Given the description of an element on the screen output the (x, y) to click on. 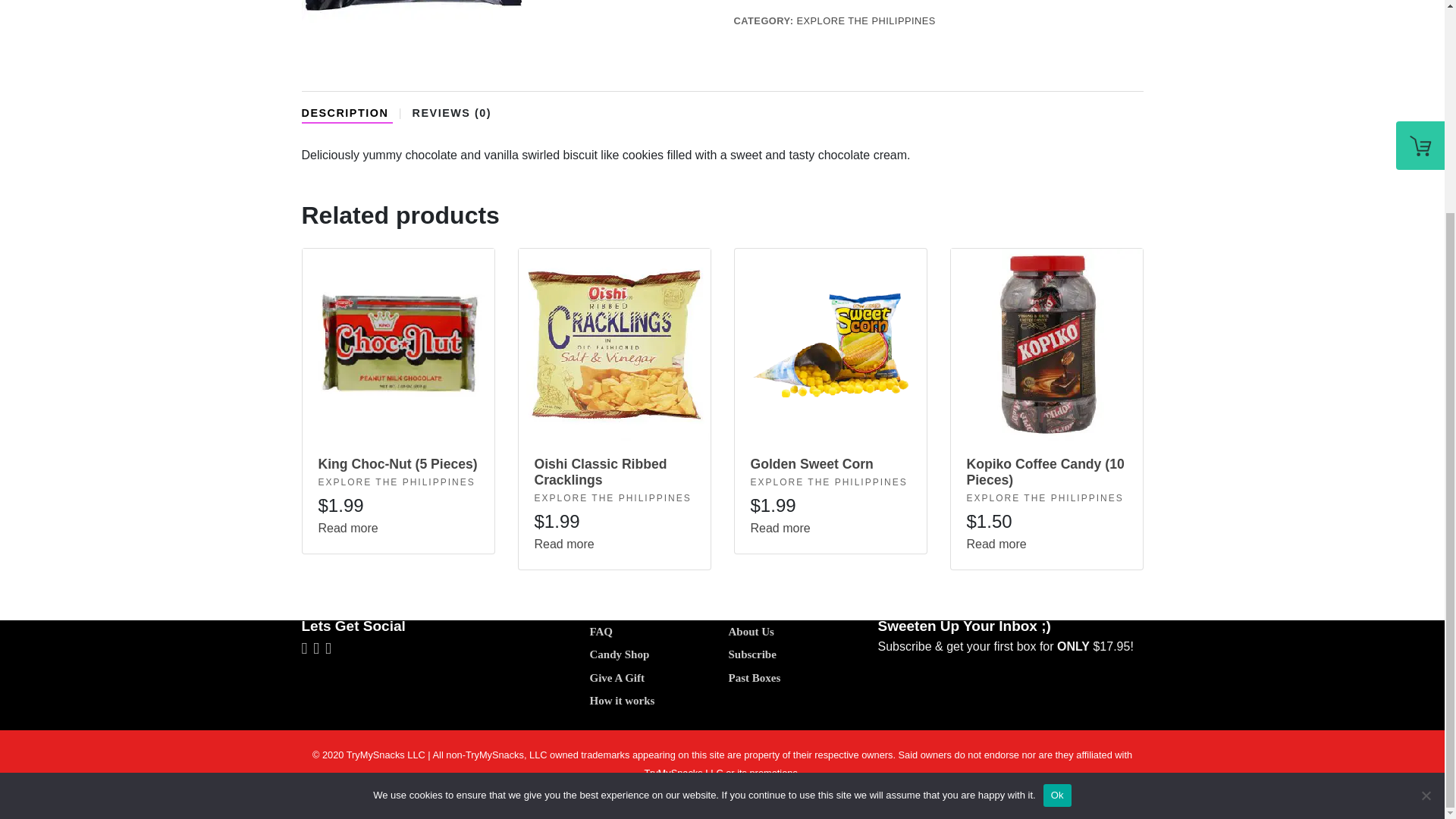
EXPLORE THE PHILIPPINES (829, 481)
Oishi Classic Ribbed Cracklings (614, 479)
Golden Sweet Corn (831, 471)
Jingle (411, 37)
Read more (348, 527)
EXPLORE THE PHILIPPINES (397, 481)
Read more (780, 527)
EXPLORE THE PHILIPPINES (865, 20)
EXPLORE THE PHILIPPINES (612, 498)
No (1425, 517)
Read more (564, 543)
DESCRIPTION (347, 114)
